Given the description of an element on the screen output the (x, y) to click on. 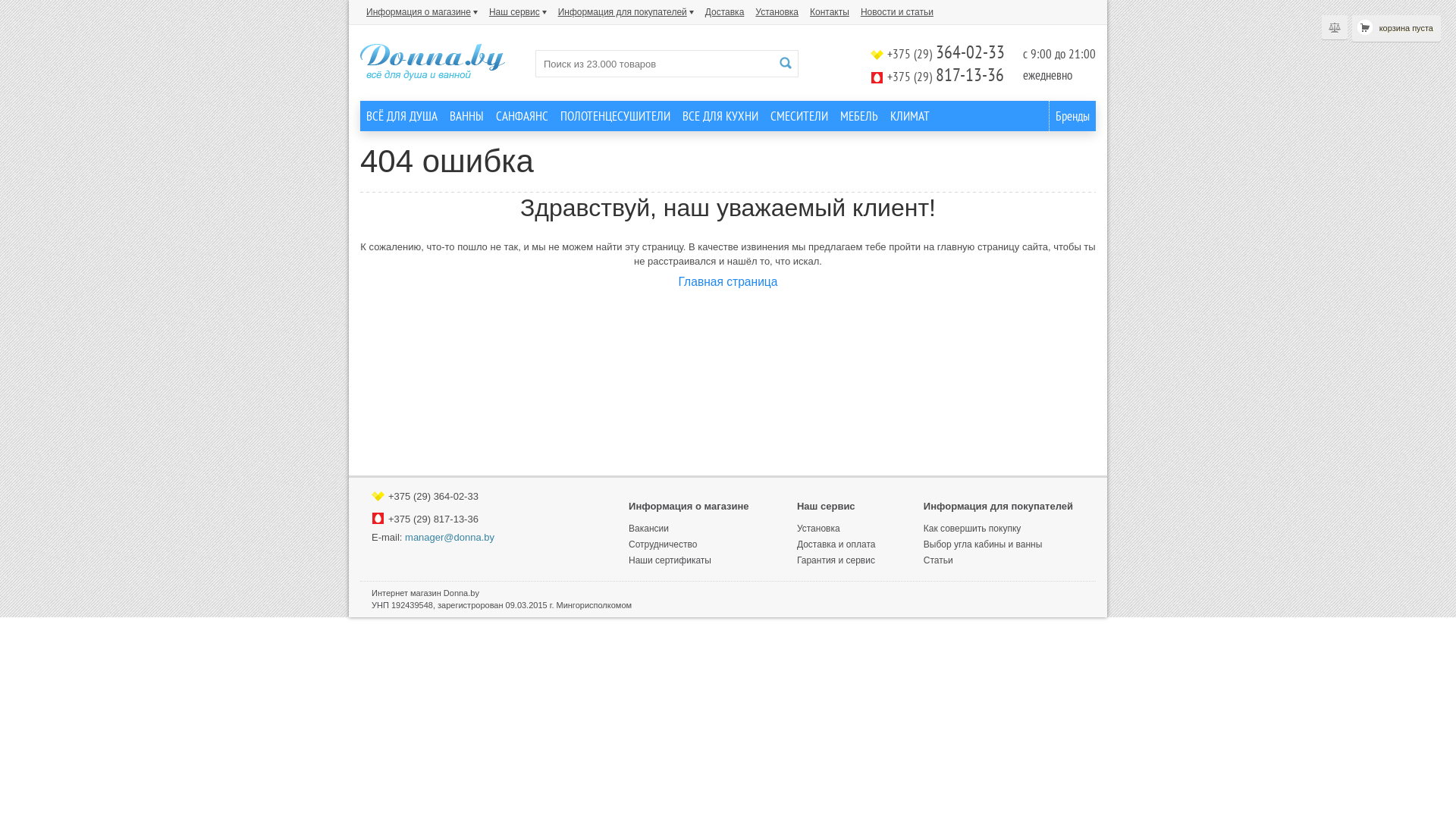
364-02-33 Element type: text (967, 51)
364-02-33 Element type: text (454, 496)
817-13-36 Element type: text (967, 74)
Donna.by Element type: text (432, 61)
817-13-36 Element type: text (454, 518)
manager@donna.by Element type: text (449, 536)
